Given the description of an element on the screen output the (x, y) to click on. 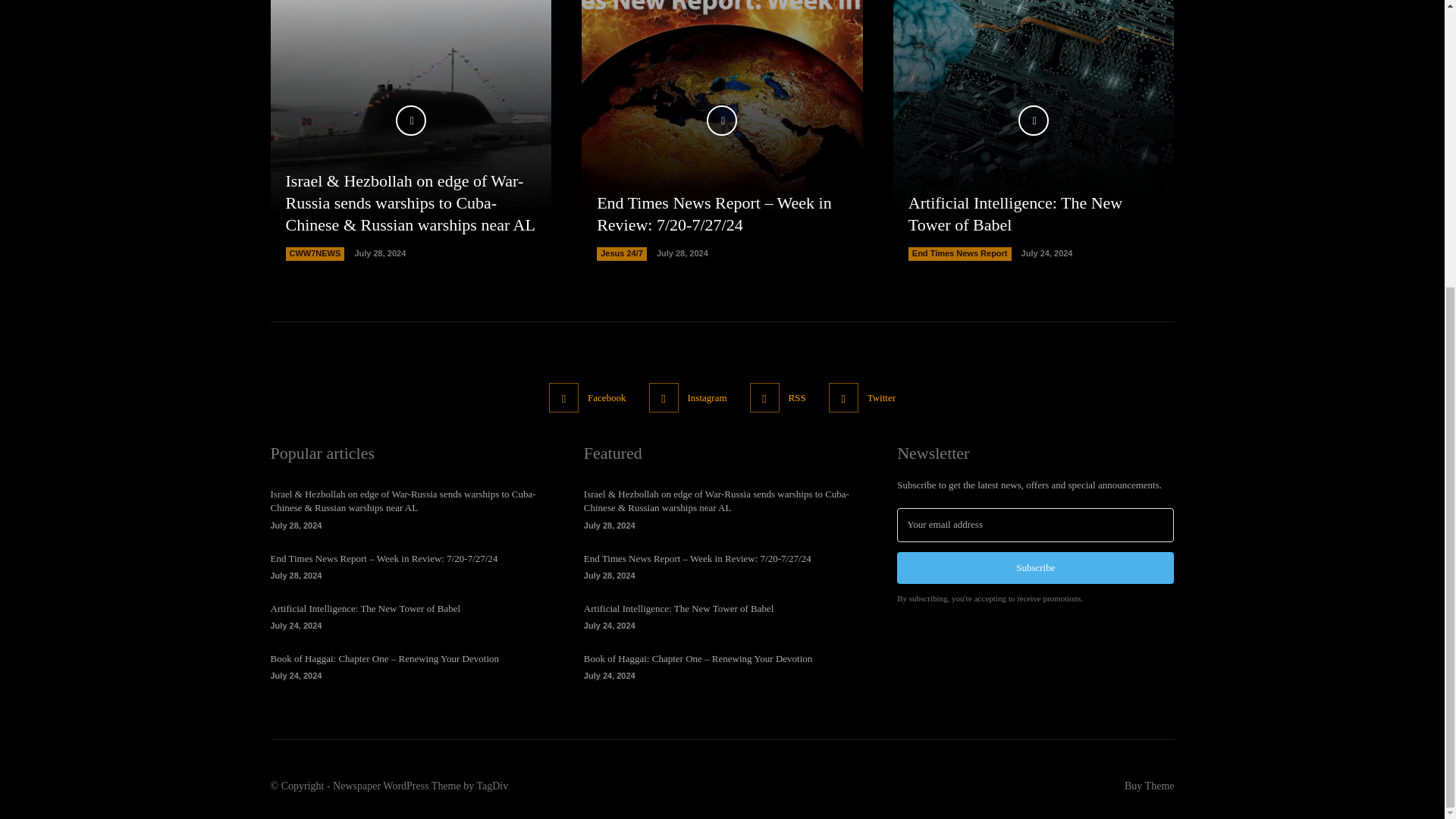
Instagram (663, 397)
Artificial Intelligence: The New Tower of Babel (1015, 213)
Facebook (563, 397)
Facebook (607, 397)
End Times News Report (959, 254)
RSS (763, 397)
Twitter (843, 397)
CWW7NEWS (314, 254)
Artificial Intelligence: The New Tower of Babel (1015, 213)
Artificial Intelligence: The New Tower of Babel (1033, 130)
